Given the description of an element on the screen output the (x, y) to click on. 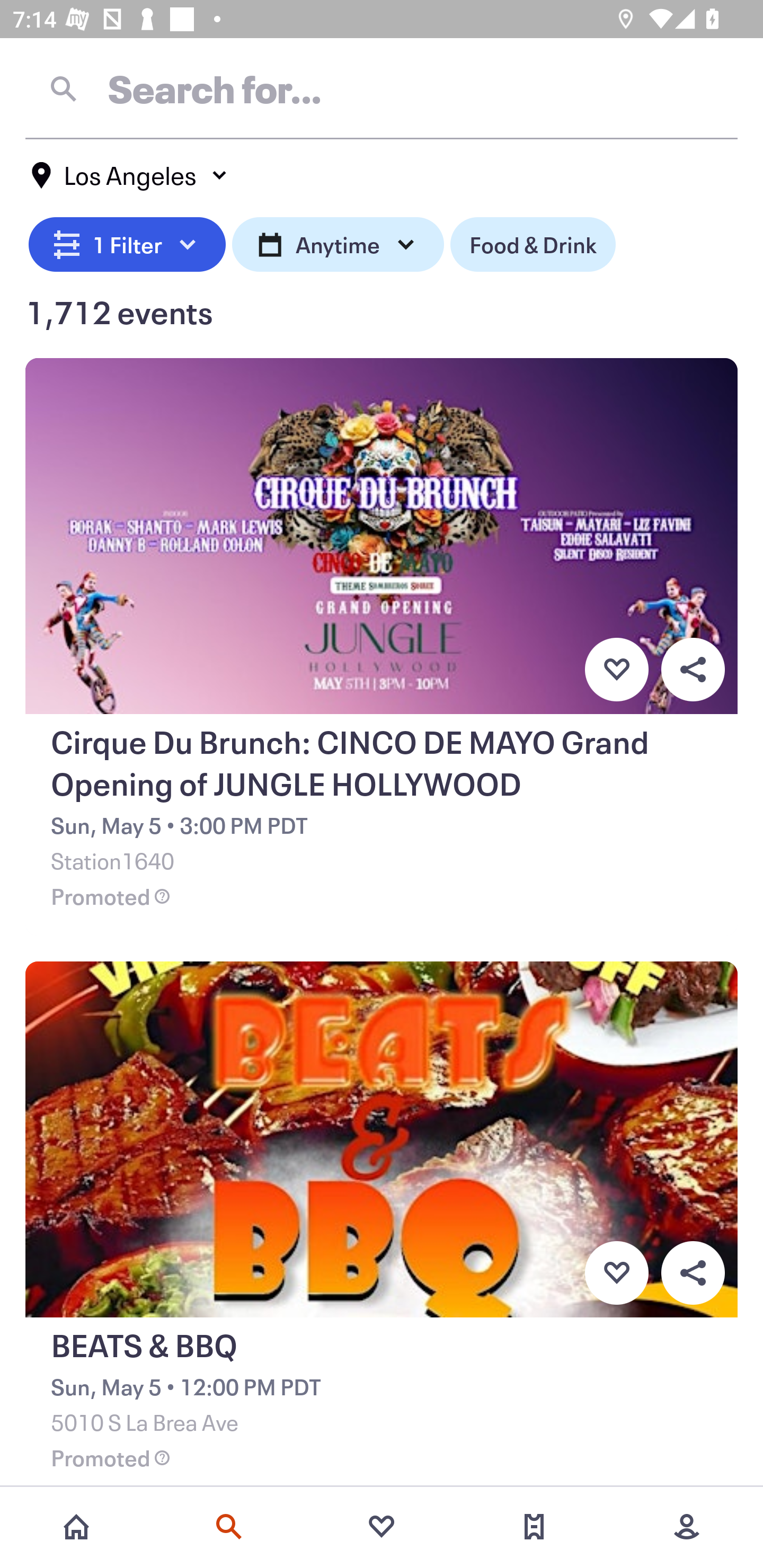
Search for… (381, 88)
Los Angeles (130, 175)
1 Filter (126, 241)
Anytime (337, 241)
Food & Drink (532, 241)
Favorite button (616, 669)
Overflow menu button (692, 669)
Favorite button (616, 1272)
Overflow menu button (692, 1272)
Home (76, 1526)
Search events (228, 1526)
Favorites (381, 1526)
Tickets (533, 1526)
More (686, 1526)
